Given the description of an element on the screen output the (x, y) to click on. 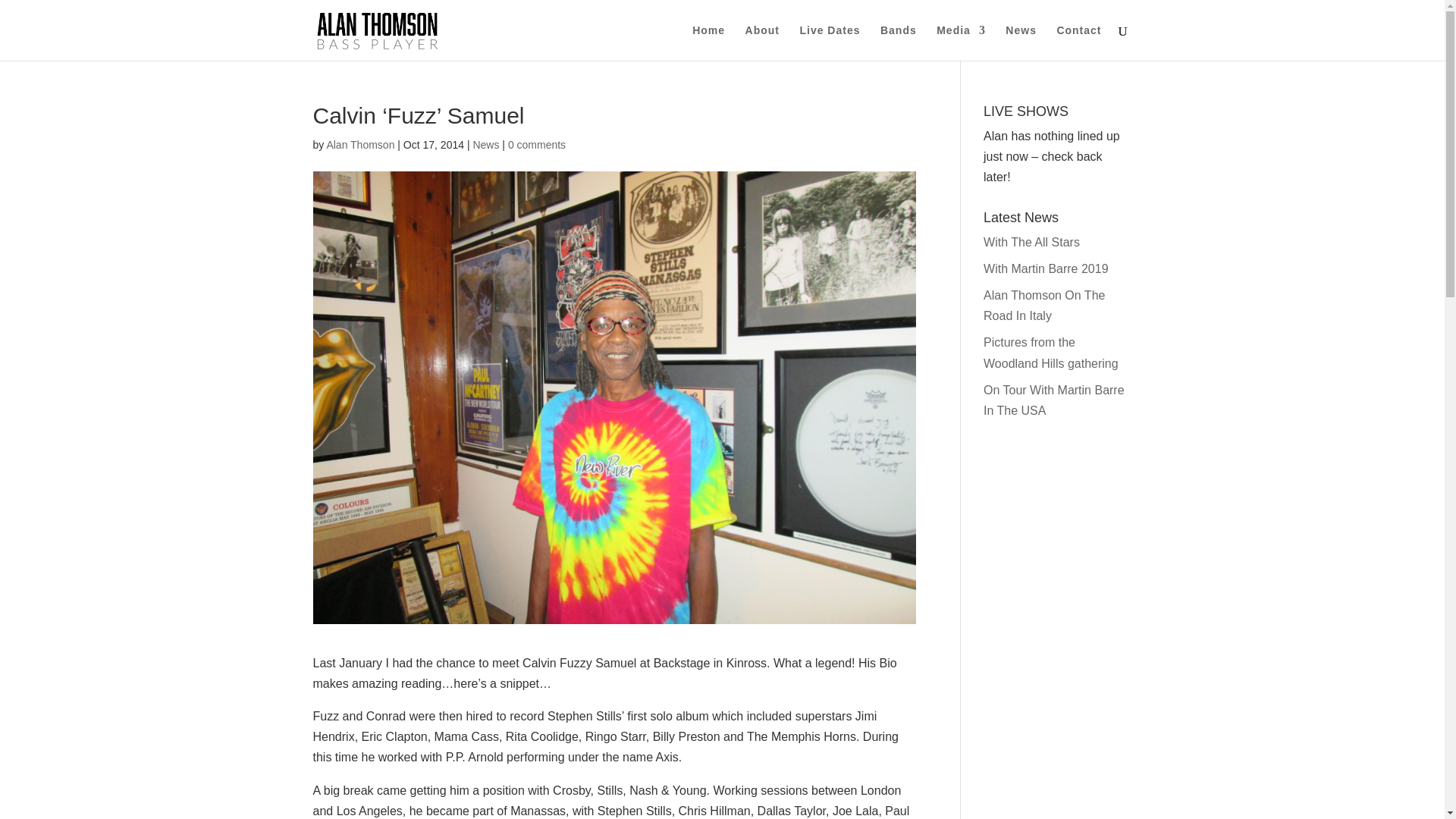
Media (960, 42)
With The All Stars (1032, 241)
Alan Thomson On The Road In Italy (1044, 305)
Live Dates (829, 42)
Home (709, 42)
Contact (1078, 42)
About (761, 42)
Pictures from the Woodland Hills gathering (1051, 352)
0 comments (537, 144)
News (485, 144)
Bands (898, 42)
With Martin Barre 2019 (1046, 268)
Alan Thomson (360, 144)
On Tour With Martin Barre In The USA (1054, 400)
Posts by Alan Thomson (360, 144)
